Given the description of an element on the screen output the (x, y) to click on. 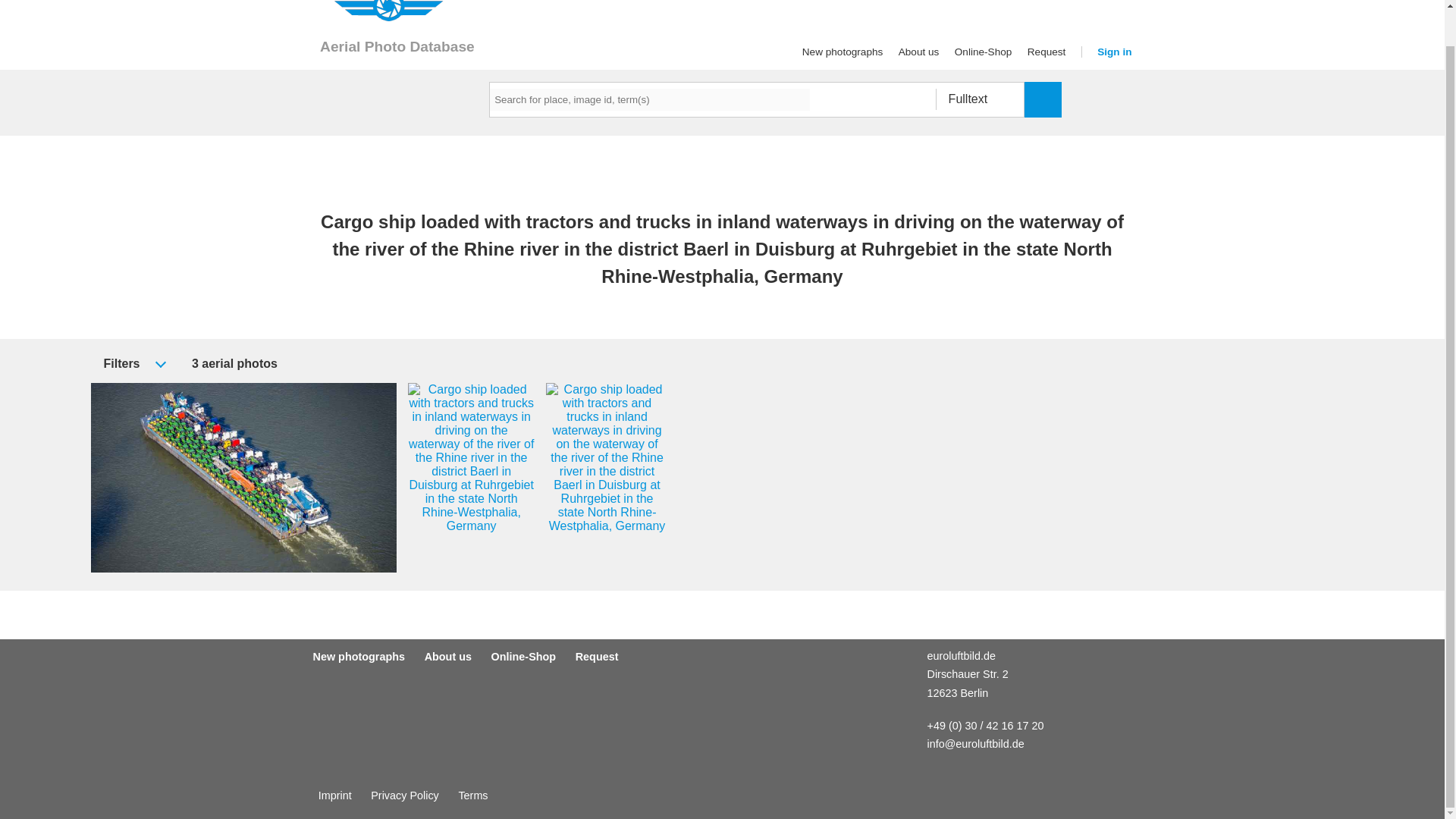
About us (918, 51)
New photographs (358, 656)
Copy search link (289, 362)
Sign in (1114, 51)
Online-Shop (983, 51)
About us (448, 656)
Online-Shop (524, 656)
About us (918, 51)
Sign in (1114, 51)
Request (1046, 51)
